Given the description of an element on the screen output the (x, y) to click on. 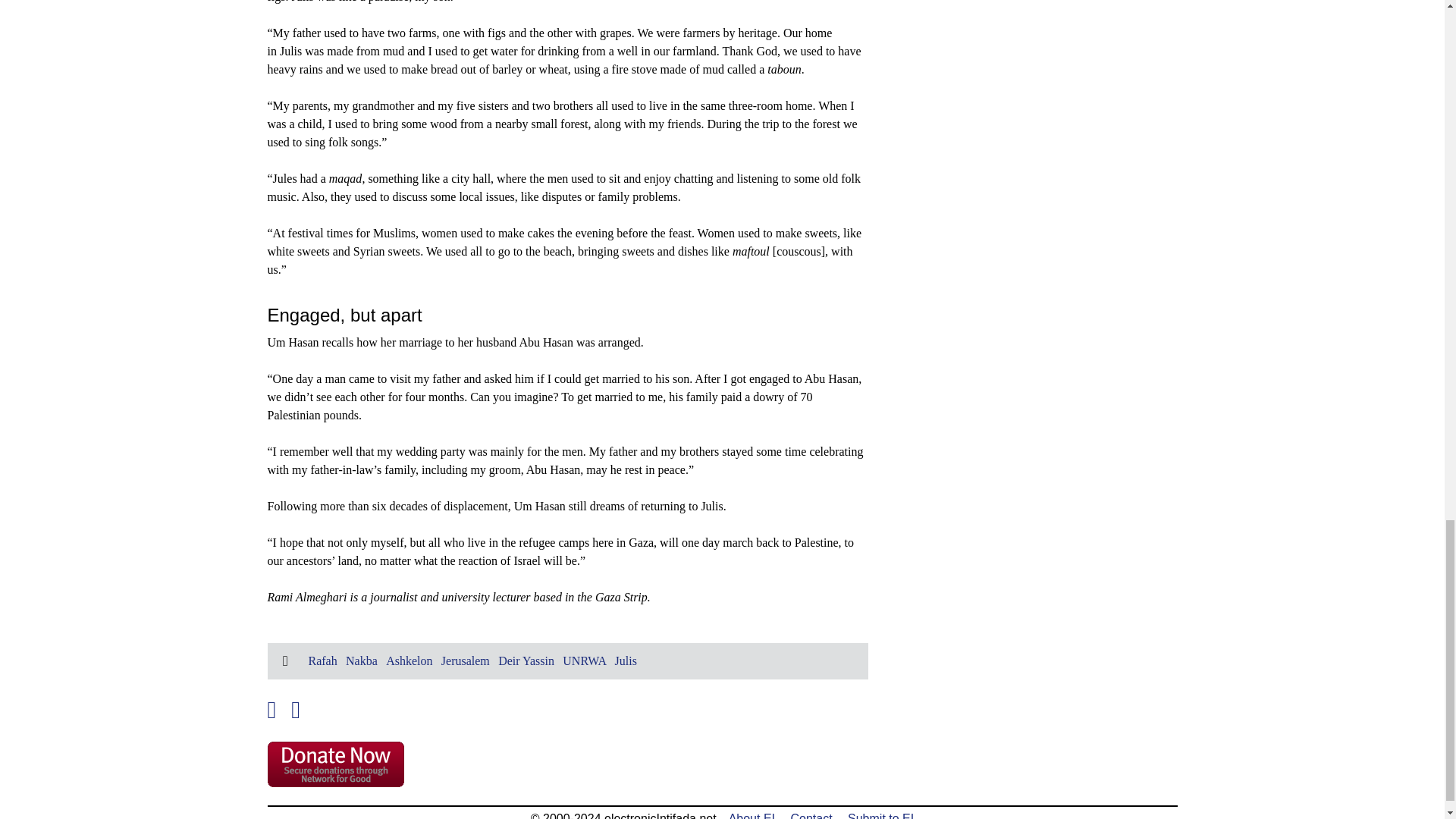
Nakba (361, 660)
UNRWA (583, 660)
Rafah (321, 660)
Jerusalem (465, 660)
Deir Yassin (525, 660)
Ashkelon (408, 660)
Julis (625, 660)
